Given the description of an element on the screen output the (x, y) to click on. 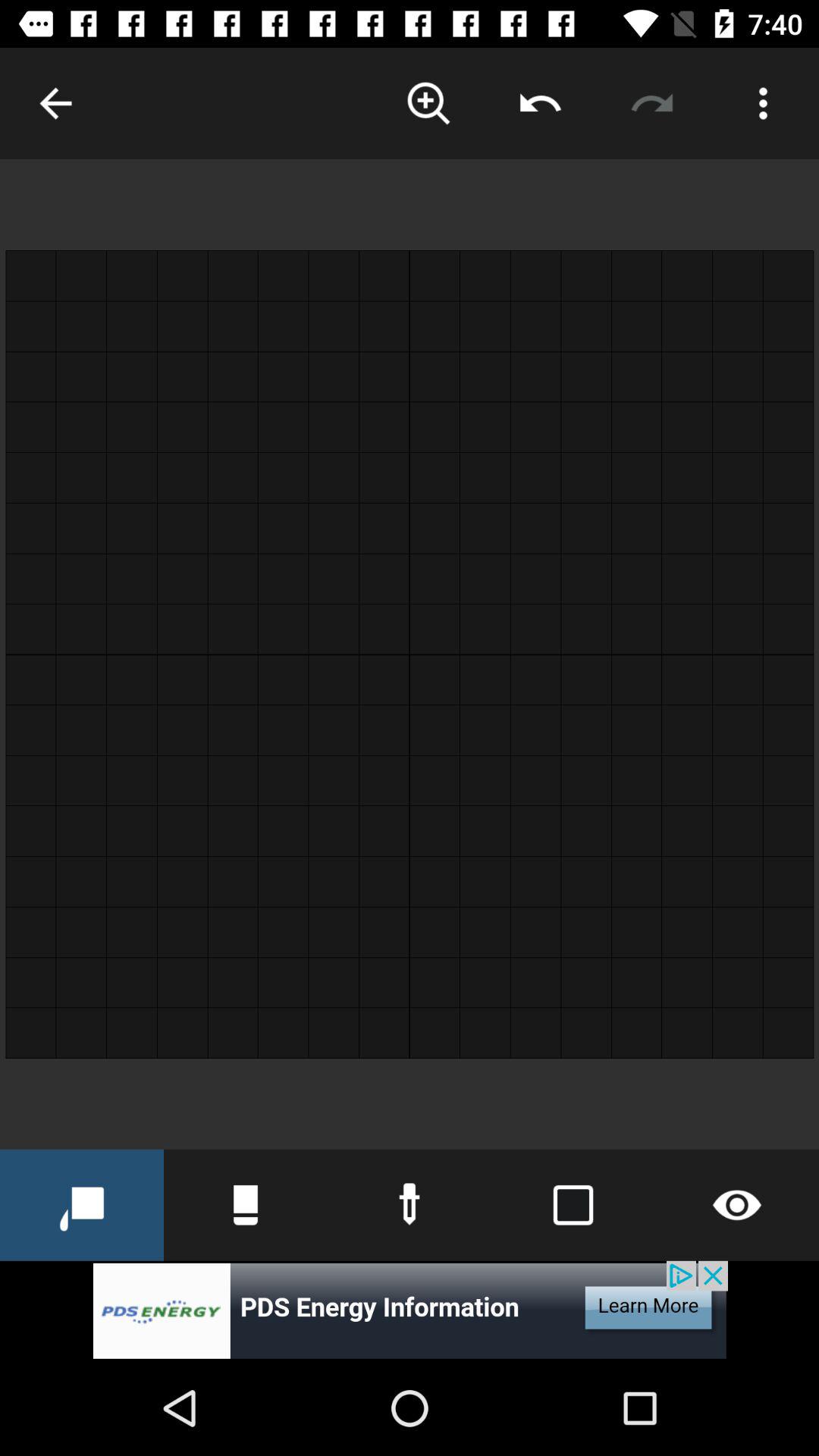
opens an options menu (763, 103)
